Given the description of an element on the screen output the (x, y) to click on. 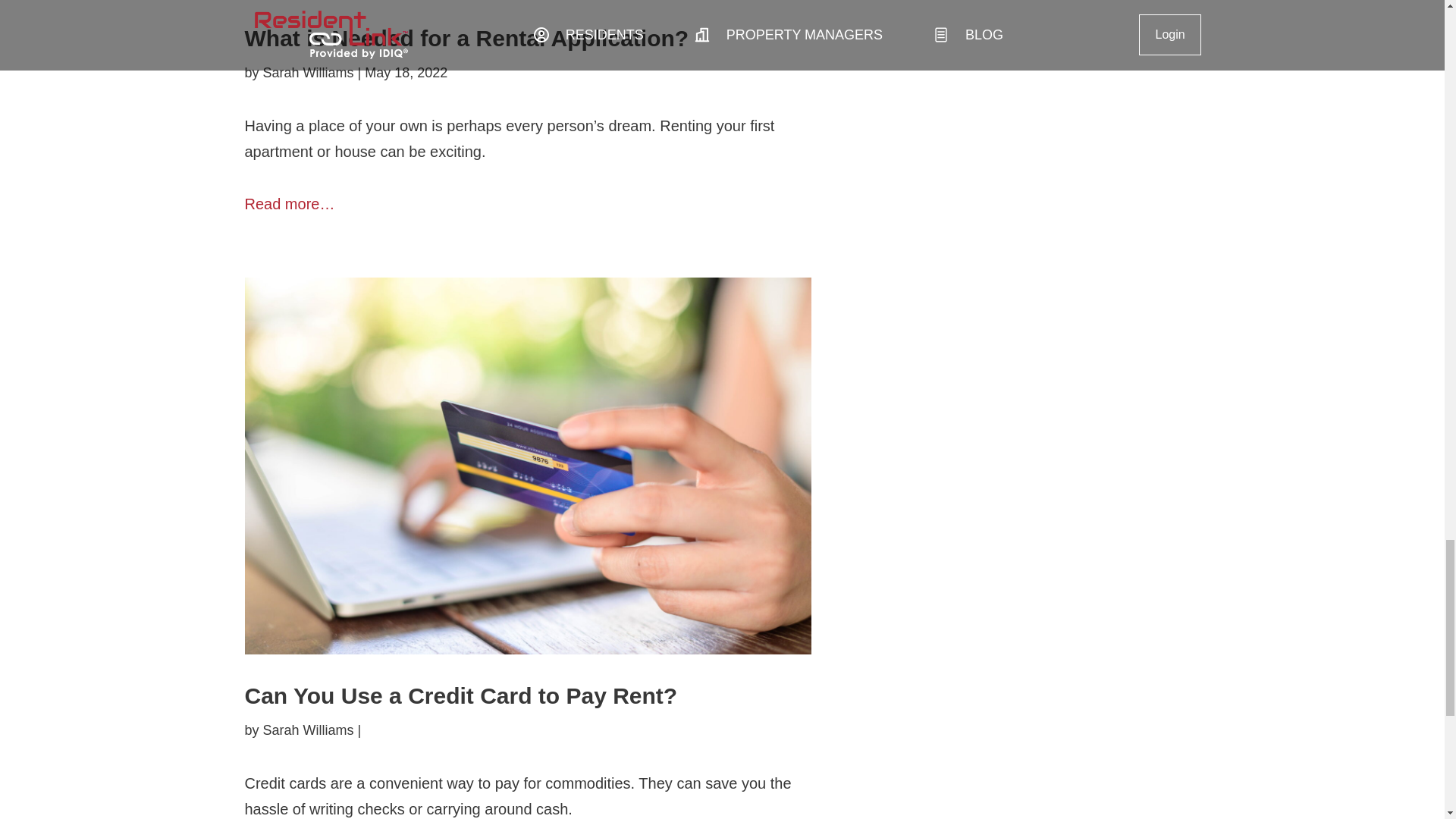
Can You Use a Credit Card to Pay Rent? (460, 695)
What is Needed for a Rental Application? (466, 37)
